Given the description of an element on the screen output the (x, y) to click on. 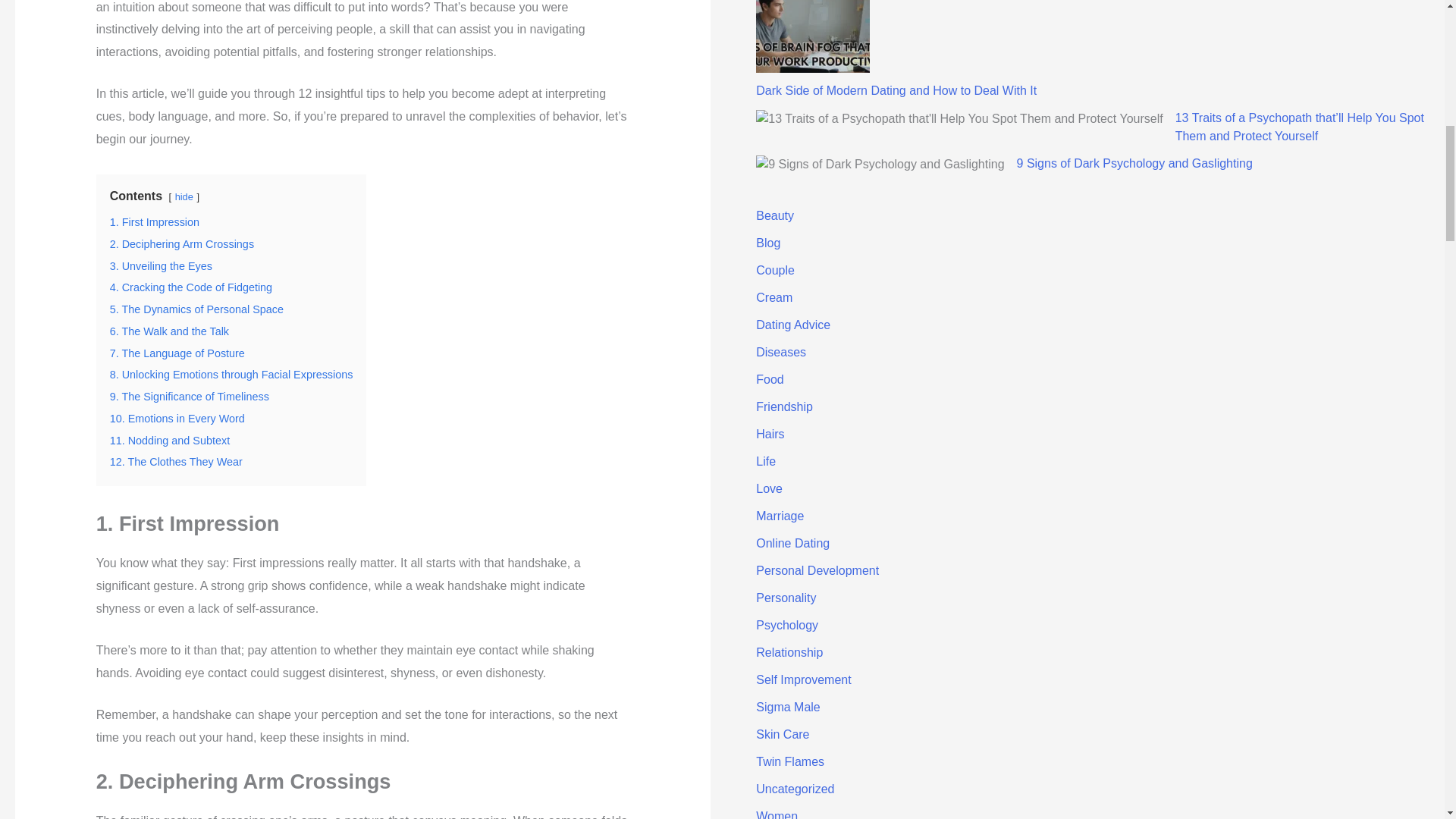
4. Cracking the Code of Fidgeting (191, 287)
11. Nodding and Subtext (170, 440)
7. The Language of Posture (177, 353)
3. Unveiling the Eyes (161, 265)
1. First Impression (154, 222)
6. The Walk and the Talk (169, 331)
9. The Significance of Timeliness (189, 396)
5. The Dynamics of Personal Space (196, 309)
hide (183, 196)
2. Deciphering Arm Crossings (181, 244)
